Given the description of an element on the screen output the (x, y) to click on. 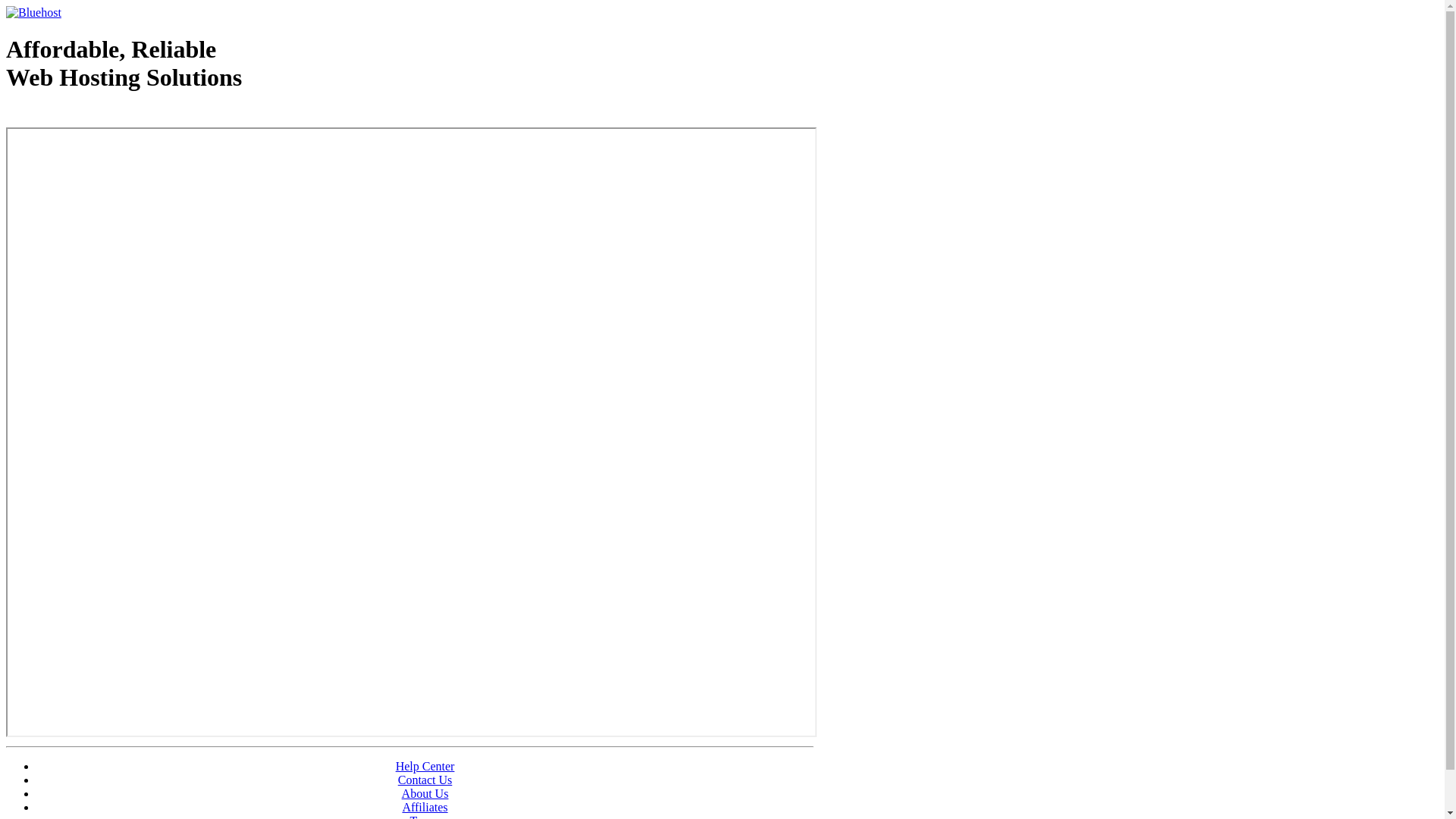
Help Center Element type: text (425, 765)
Web Hosting - courtesy of www.bluehost.com Element type: text (94, 115)
About Us Element type: text (424, 793)
Contact Us Element type: text (425, 779)
Affiliates Element type: text (424, 806)
